Given the description of an element on the screen output the (x, y) to click on. 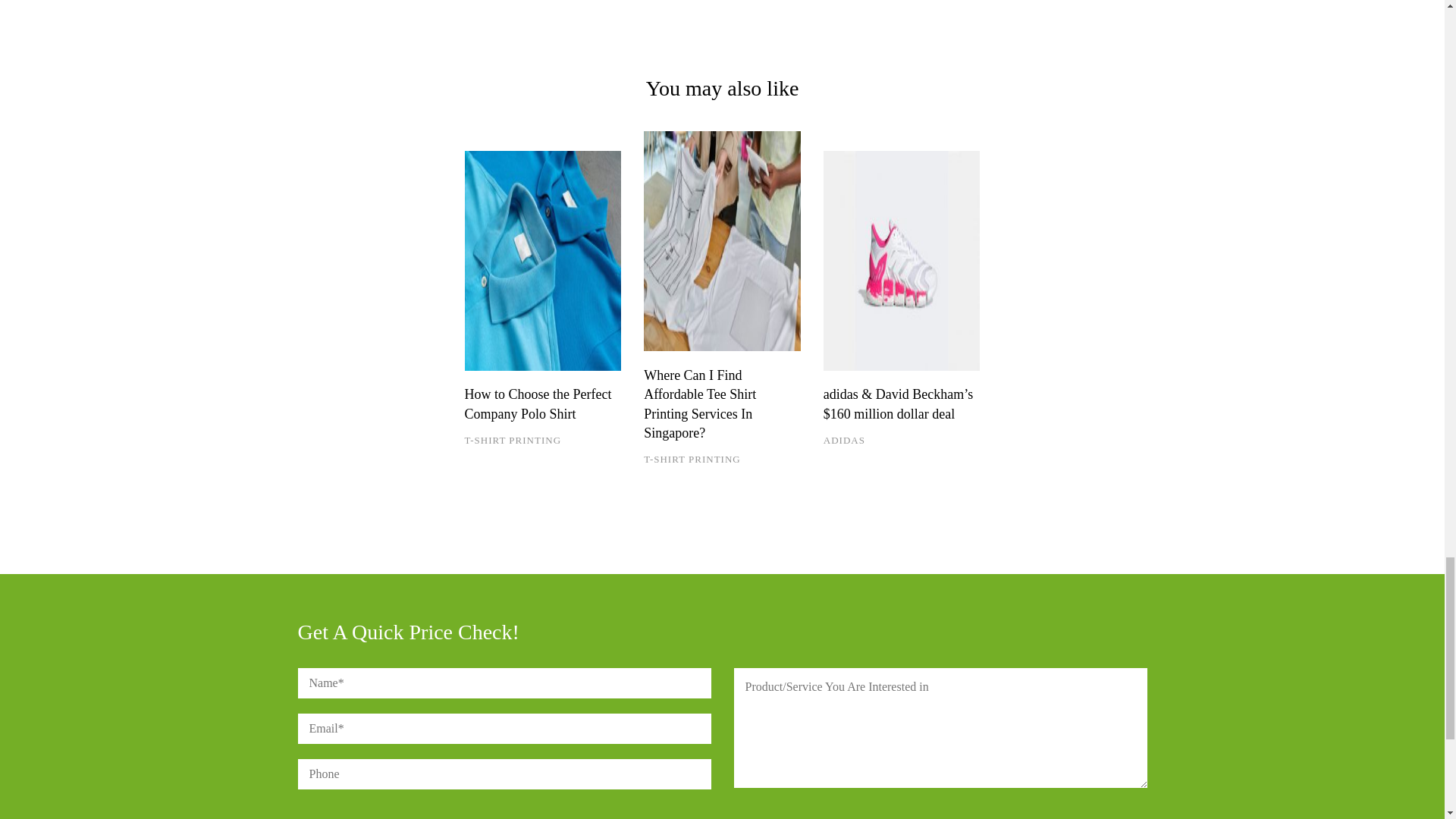
How to Choose the Perfect Company Polo Shirt (542, 260)
